Given the description of an element on the screen output the (x, y) to click on. 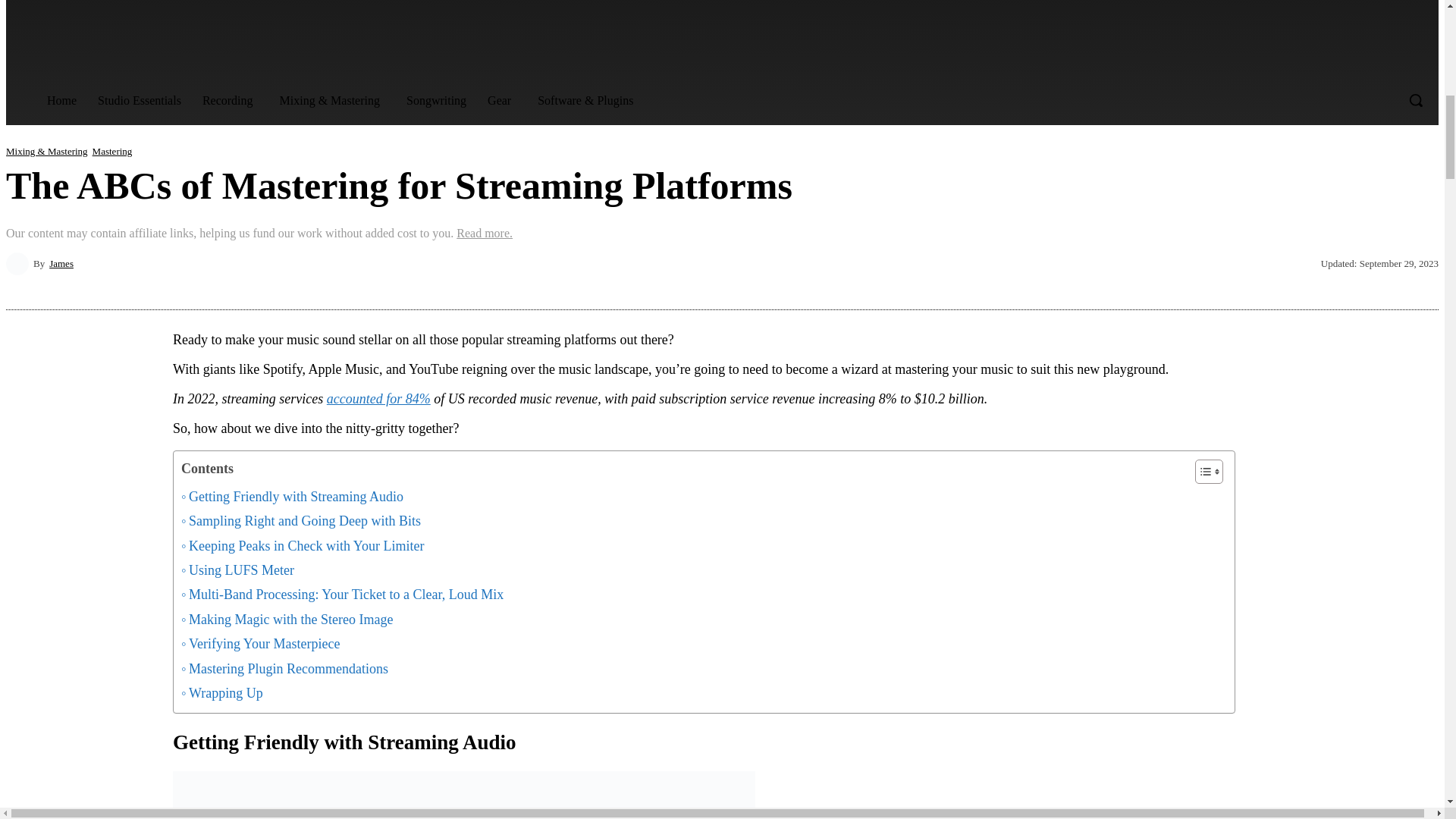
Keeping Peaks in Check with Your Limiter (301, 545)
Verifying Your Masterpiece (259, 643)
Recording (230, 100)
Wrapping Up (221, 692)
James (19, 263)
Sampling Right and Going Deep with Bits (300, 520)
Mastering Plugin Recommendations (284, 668)
Home (61, 99)
Getting Friendly with Streaming Audio (291, 496)
Studio Essentials (139, 99)
